Given the description of an element on the screen output the (x, y) to click on. 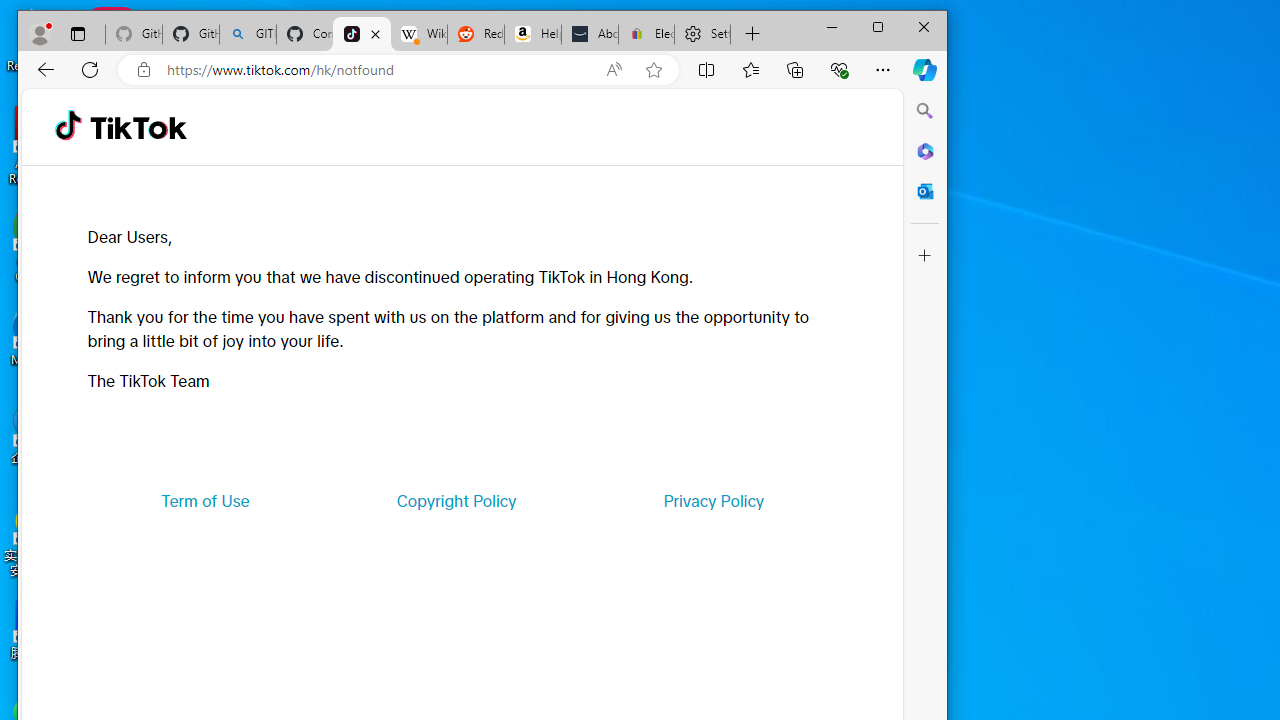
Wikipedia, the free encyclopedia (418, 34)
About Amazon (589, 34)
